Given the description of an element on the screen output the (x, y) to click on. 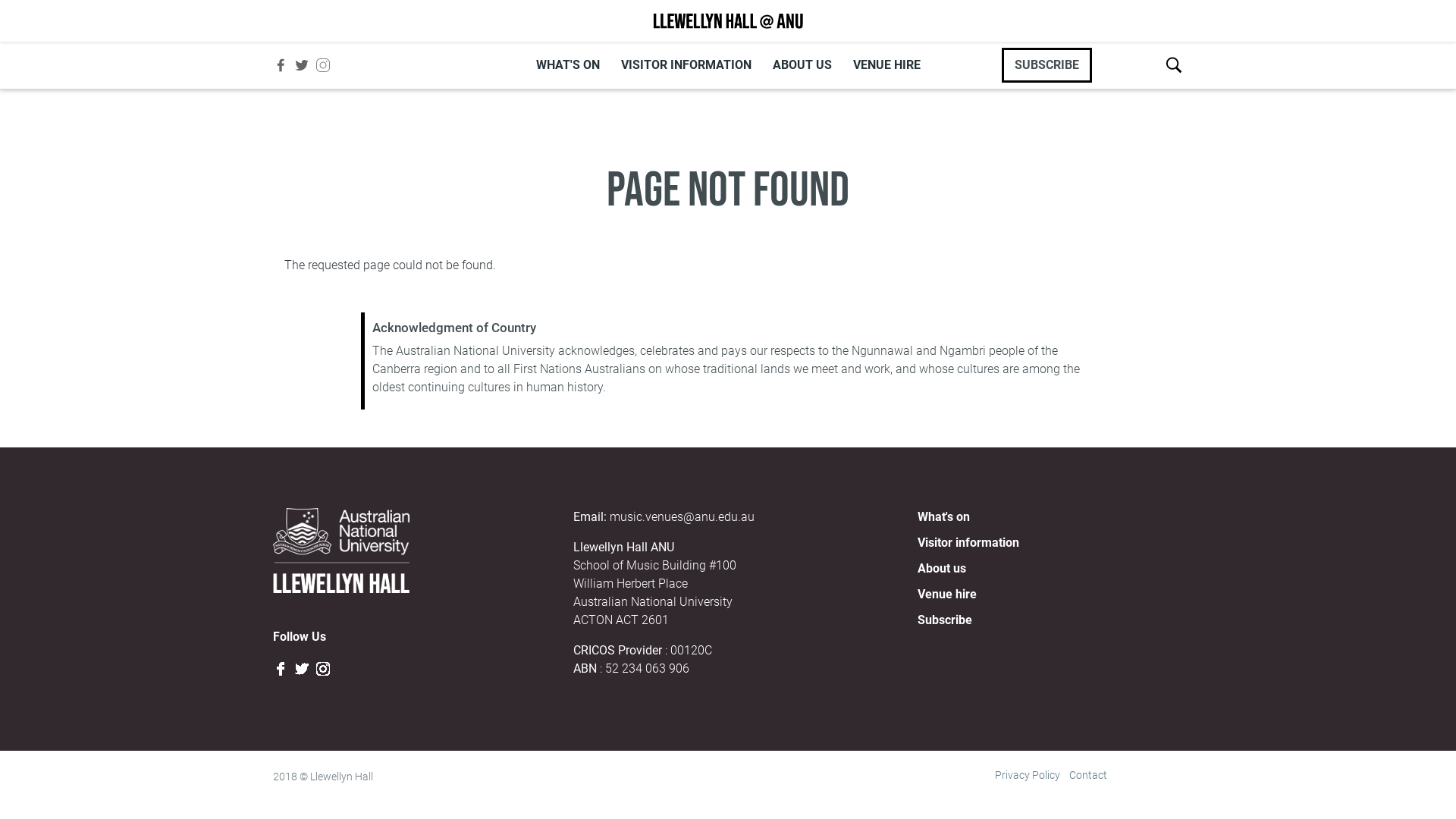
WHAT'S ON Element type: text (566, 64)
Visitor information Element type: text (968, 542)
VISITOR INFORMATION Element type: text (685, 64)
Privacy Policy Element type: text (1027, 774)
About us Element type: text (941, 568)
Subscribe Element type: text (944, 619)
VENUE HIRE Element type: text (885, 64)
Contact Element type: text (1088, 774)
Venue hire Element type: text (946, 593)
What's on Element type: text (943, 516)
SUBSCRIBE Element type: text (1046, 64)
ABOUT US Element type: text (801, 64)
music.venues@anu.edu.au Element type: text (681, 516)
